Given the description of an element on the screen output the (x, y) to click on. 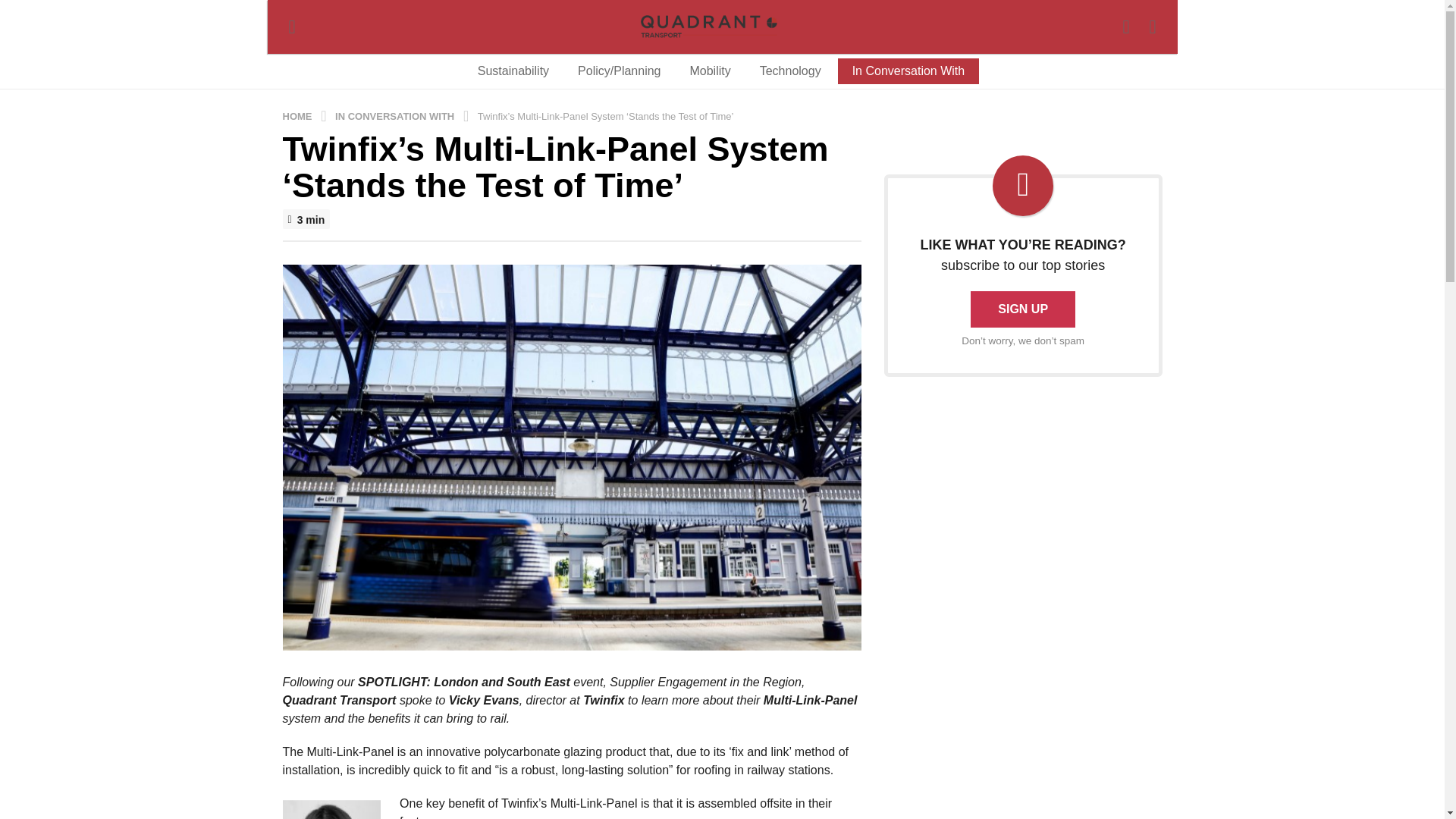
In Conversation With (908, 71)
Sustainability (512, 71)
Technology (790, 71)
Mobility (709, 71)
SIGN UP (1023, 309)
HOME (298, 115)
Technology (790, 71)
Sustainability (512, 71)
IN CONVERSATION WITH (395, 115)
Mobility (709, 71)
In Conversation With (908, 71)
